Given the description of an element on the screen output the (x, y) to click on. 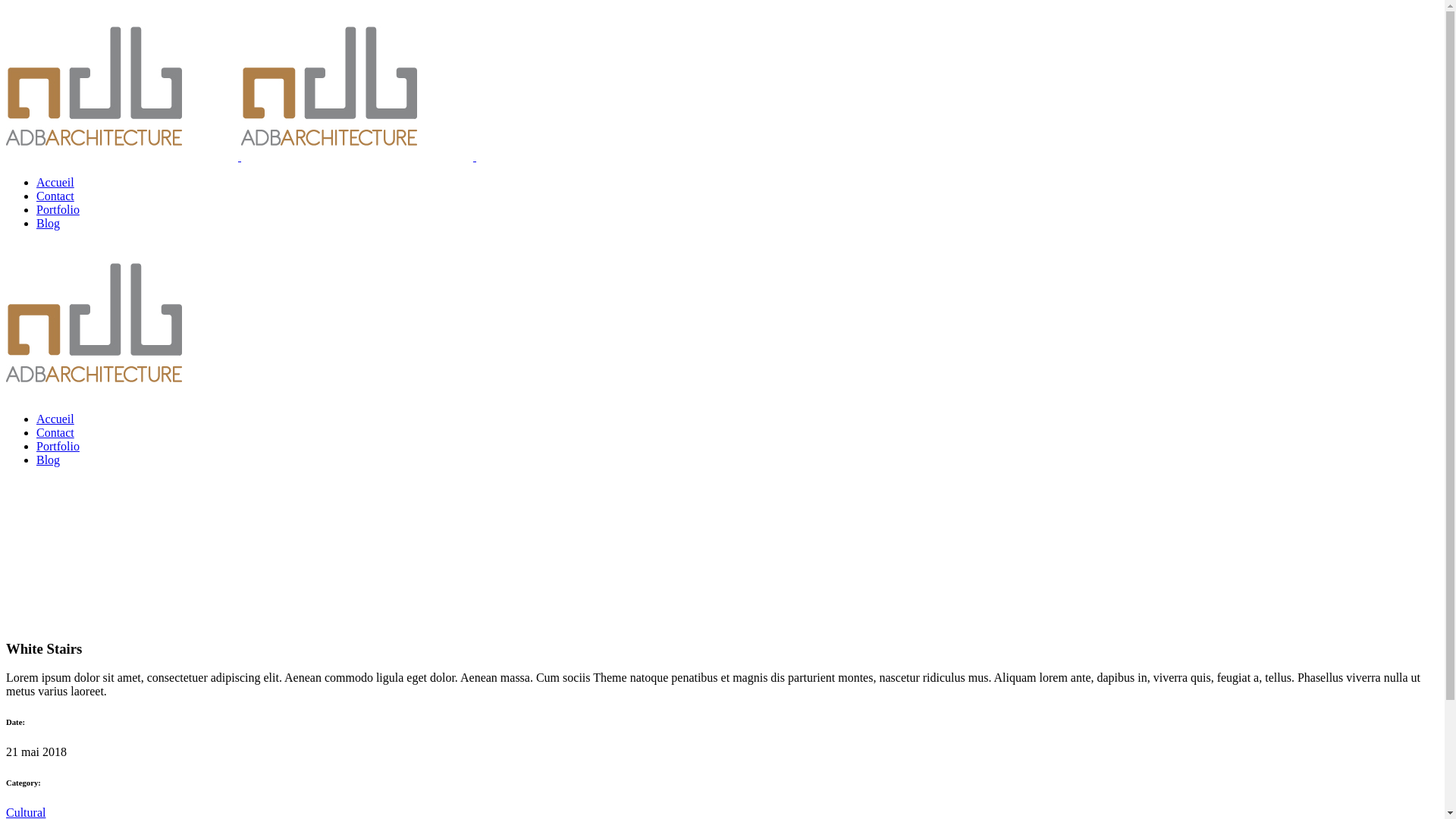
Blog Element type: text (47, 222)
Portfolio Element type: text (57, 445)
Accueil Element type: text (55, 418)
Contact Element type: text (55, 195)
Accueil Element type: text (55, 181)
Contact Element type: text (55, 432)
Portfolio Element type: text (57, 209)
Blog Element type: text (47, 459)
